Given the description of an element on the screen output the (x, y) to click on. 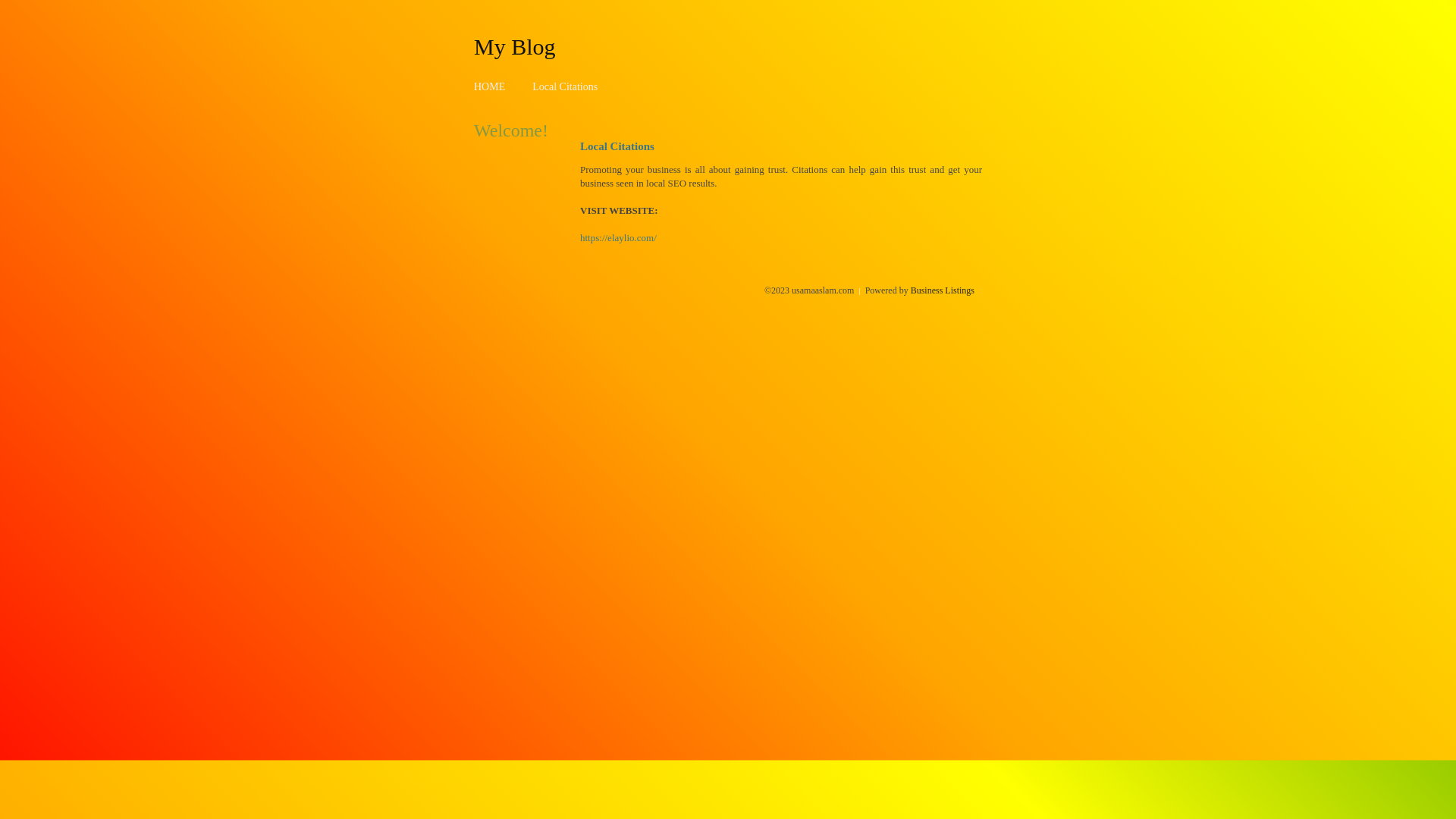
https://elaylio.com/ Element type: text (618, 237)
Local Citations Element type: text (564, 86)
HOME Element type: text (489, 86)
My Blog Element type: text (514, 46)
Business Listings Element type: text (942, 290)
